Given the description of an element on the screen output the (x, y) to click on. 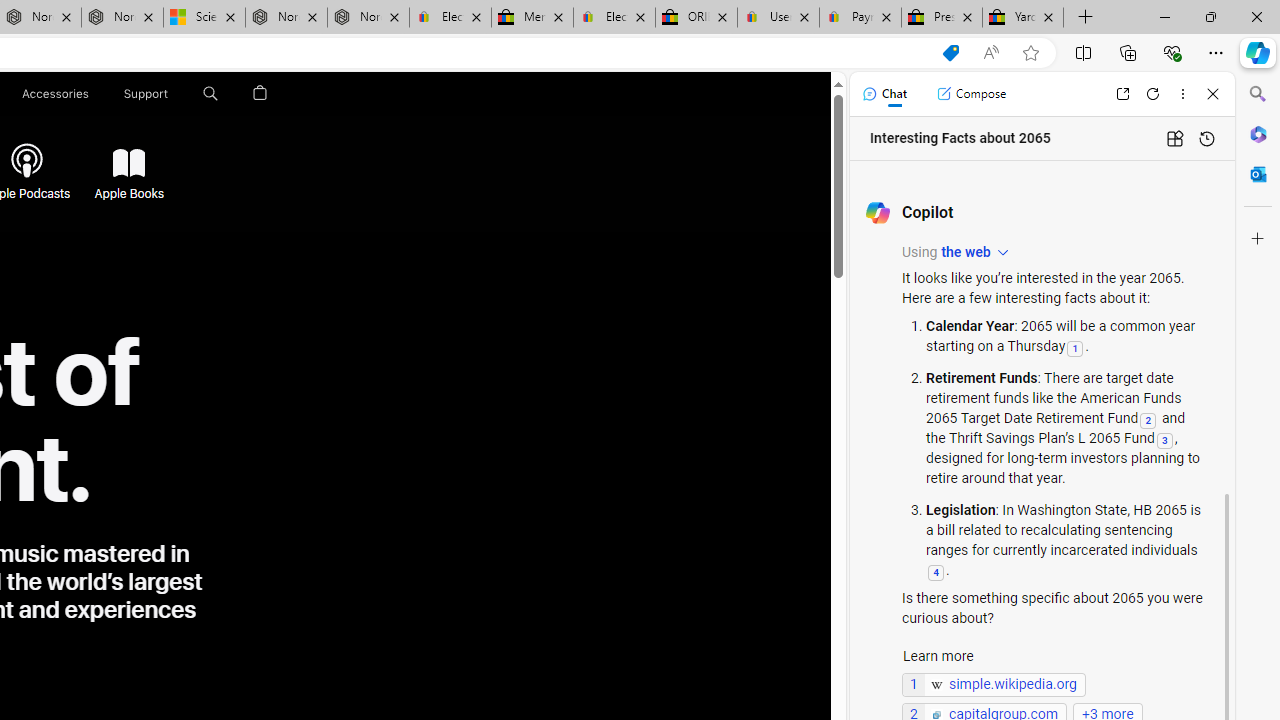
Chat (884, 93)
Support (146, 93)
Shopping Bag (260, 93)
Accessories (54, 93)
Support (146, 93)
